Given the description of an element on the screen output the (x, y) to click on. 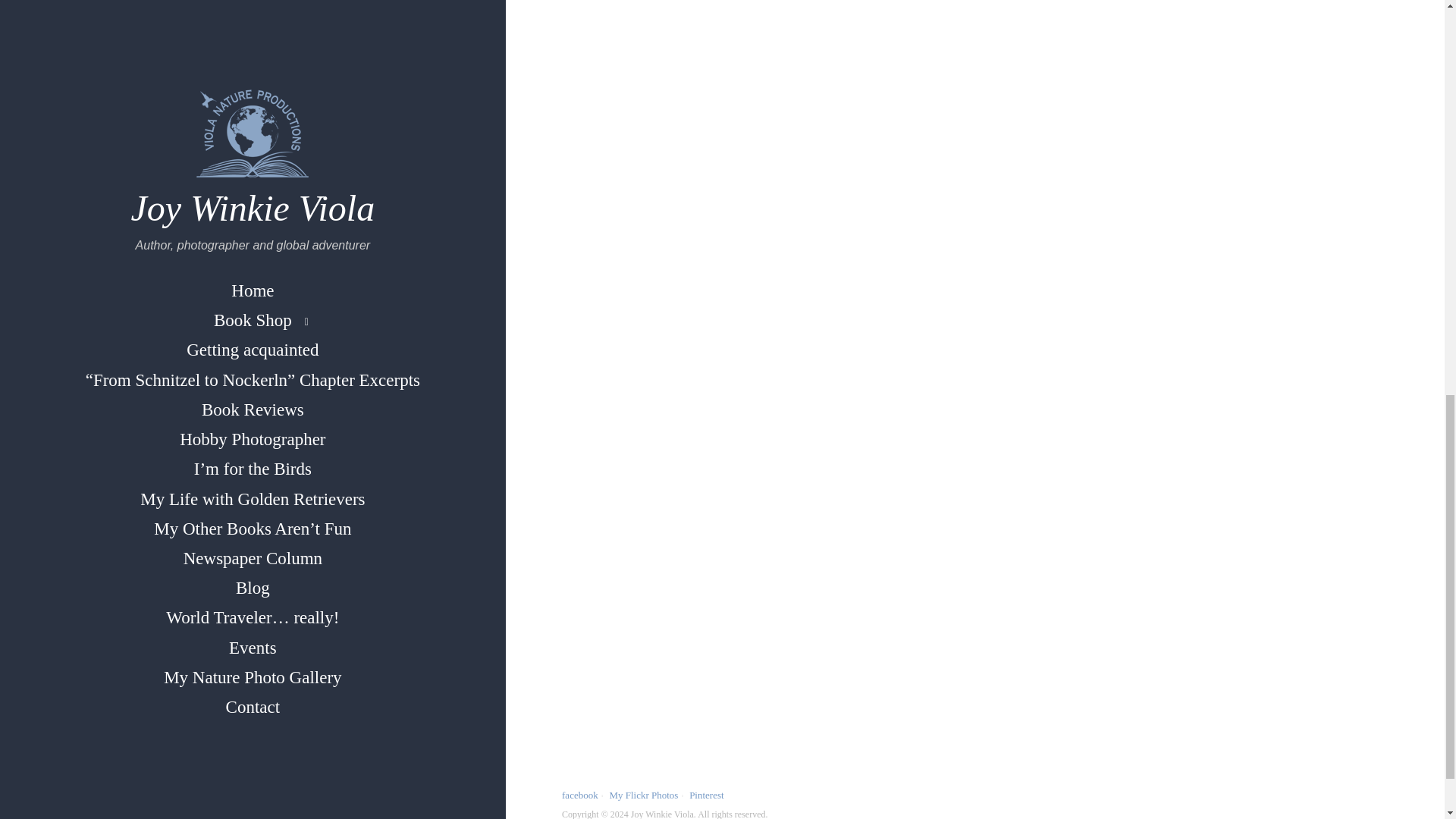
My Flickr Photos (643, 794)
facebook (580, 794)
Pinterest (705, 794)
